Given the description of an element on the screen output the (x, y) to click on. 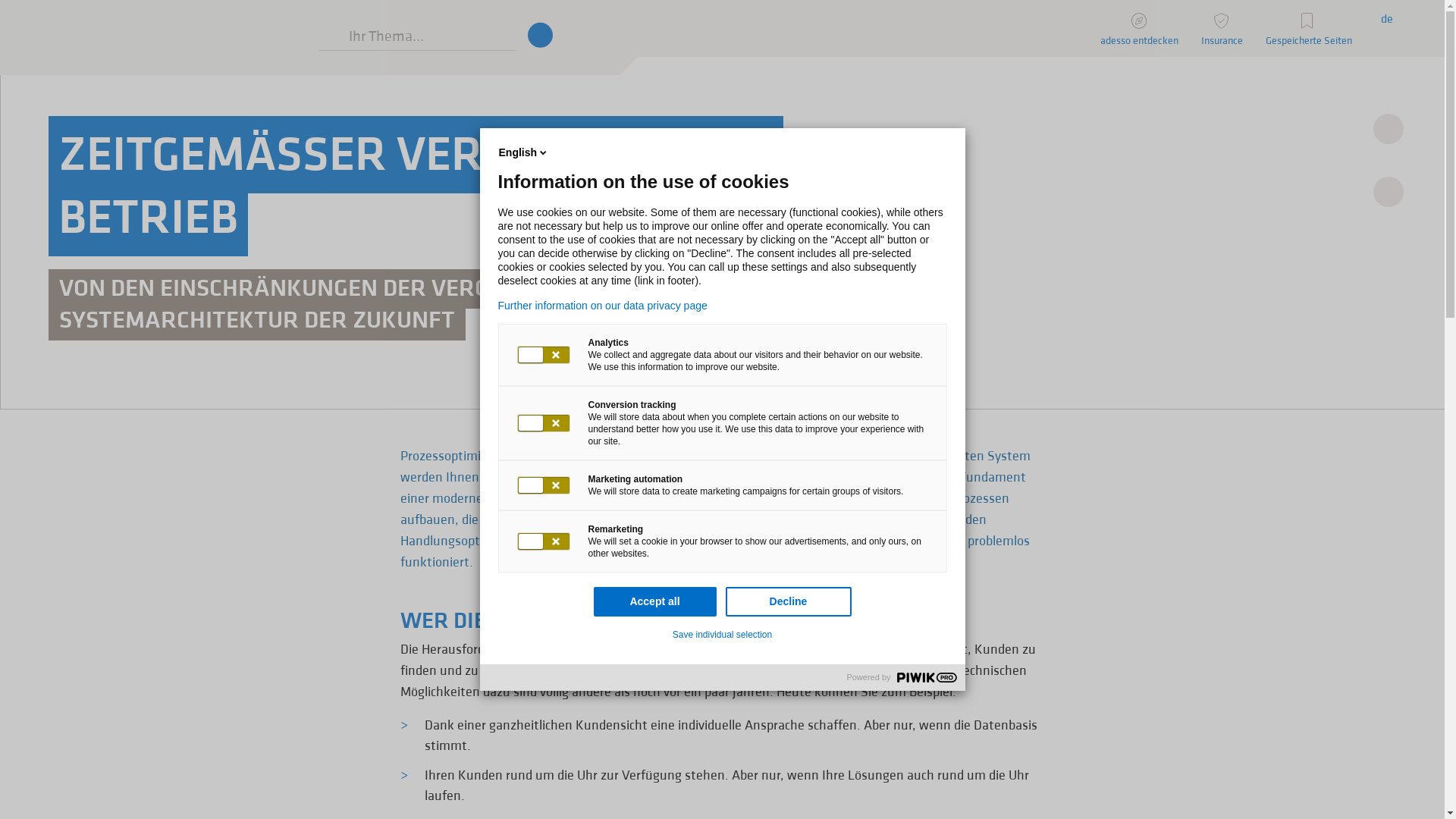
Insurance Element type: text (1221, 28)
Accept all Element type: text (654, 601)
Gespeicherte Seiten Element type: text (1308, 28)
de Element type: text (1386, 17)
Decline Element type: text (787, 601)
Save individual selection Element type: text (721, 634)
Further information on our data privacy page Element type: text (721, 305)
adesso entdecken Element type: text (1138, 28)
